Given the description of an element on the screen output the (x, y) to click on. 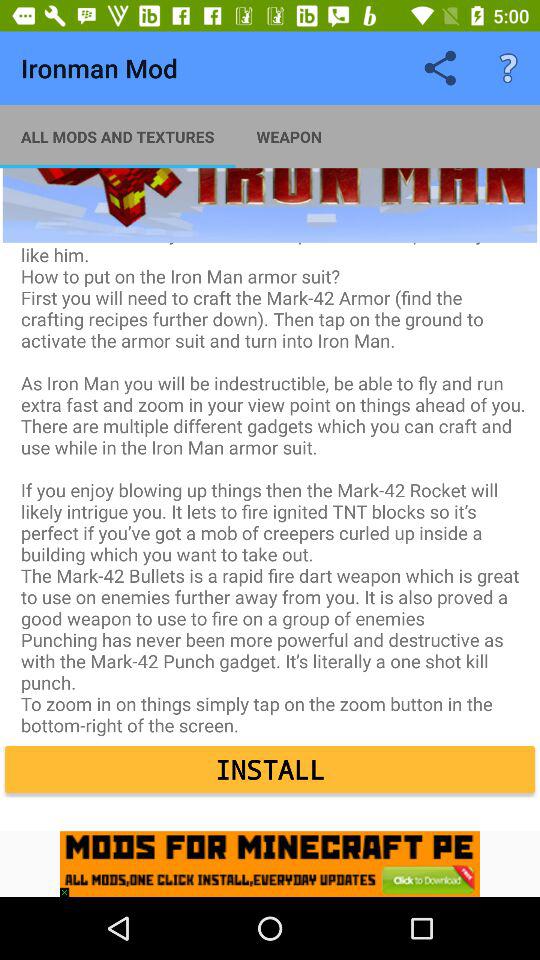
select item below the install (270, 863)
